Given the description of an element on the screen output the (x, y) to click on. 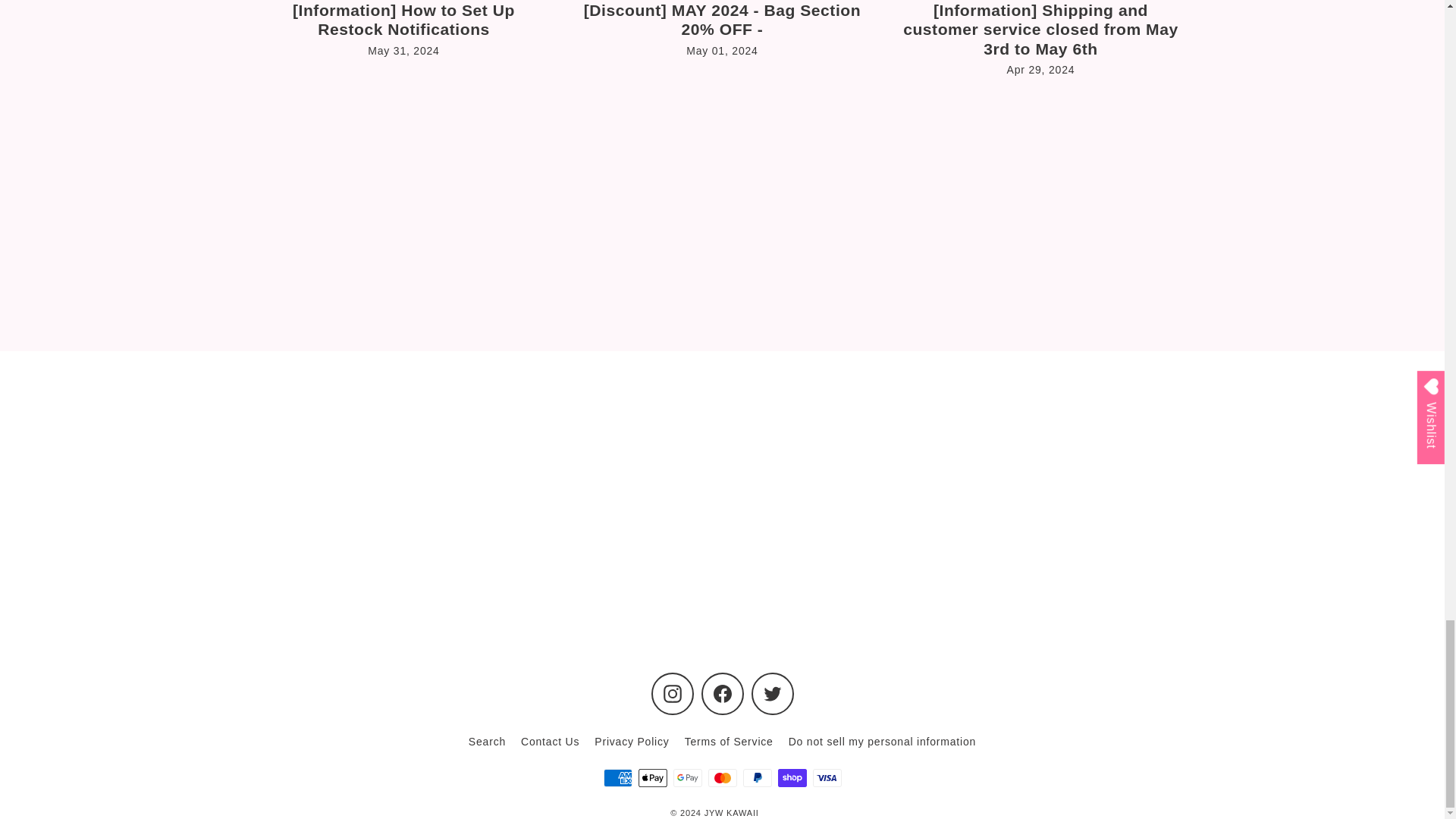
JYW KAWAII on Instagram (671, 693)
JYW KAWAII on Facebook (721, 693)
Mastercard (721, 778)
Apple Pay (652, 778)
Shop Pay (791, 778)
Visa (826, 778)
PayPal (756, 778)
American Express (617, 778)
Google Pay (686, 778)
JYW KAWAII on Twitter (772, 693)
